Given the description of an element on the screen output the (x, y) to click on. 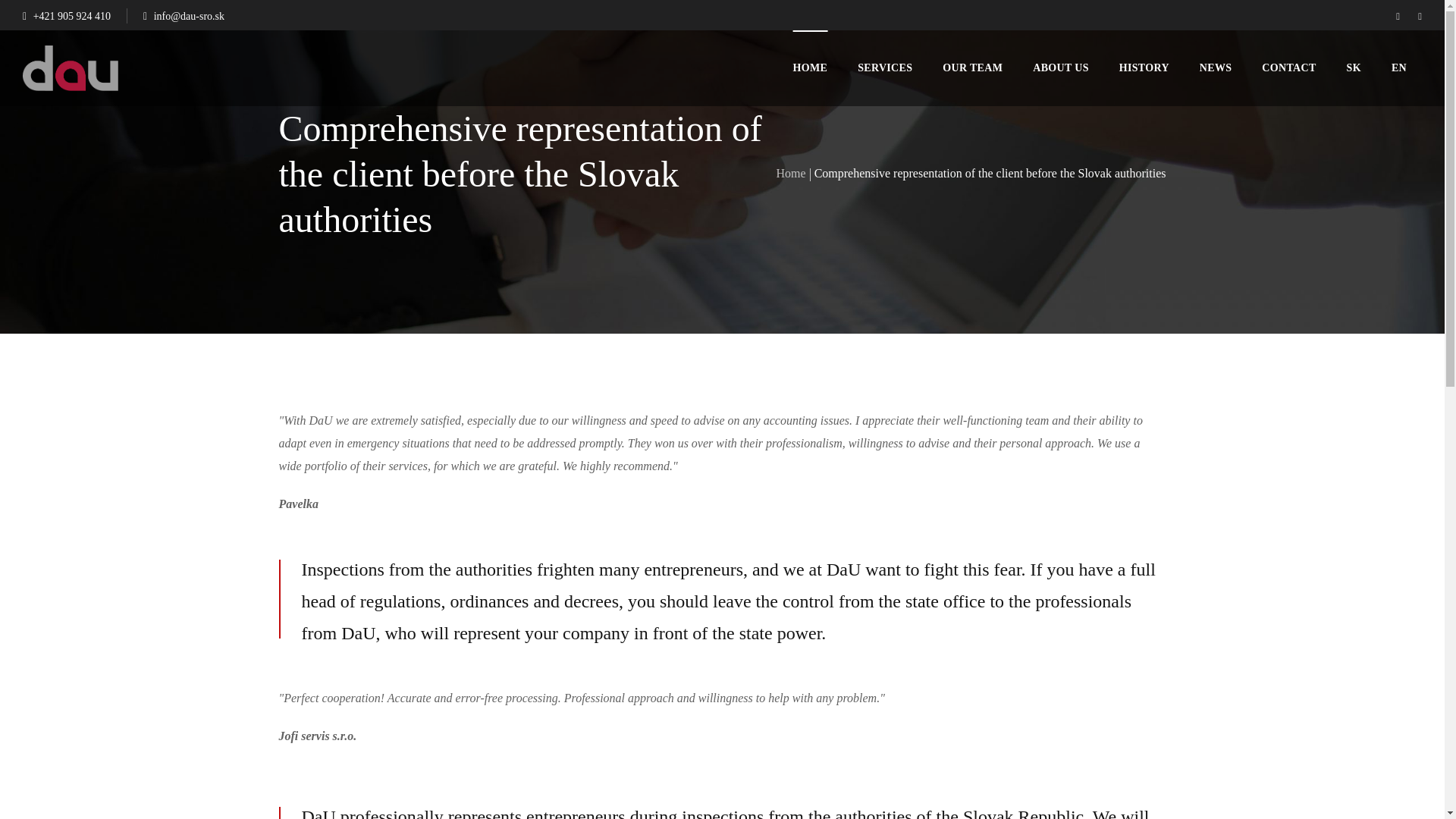
ABOUT US (1060, 68)
HISTORY (1144, 68)
OUR TEAM (972, 68)
CONTACT (1288, 68)
SERVICES (885, 68)
